Given the description of an element on the screen output the (x, y) to click on. 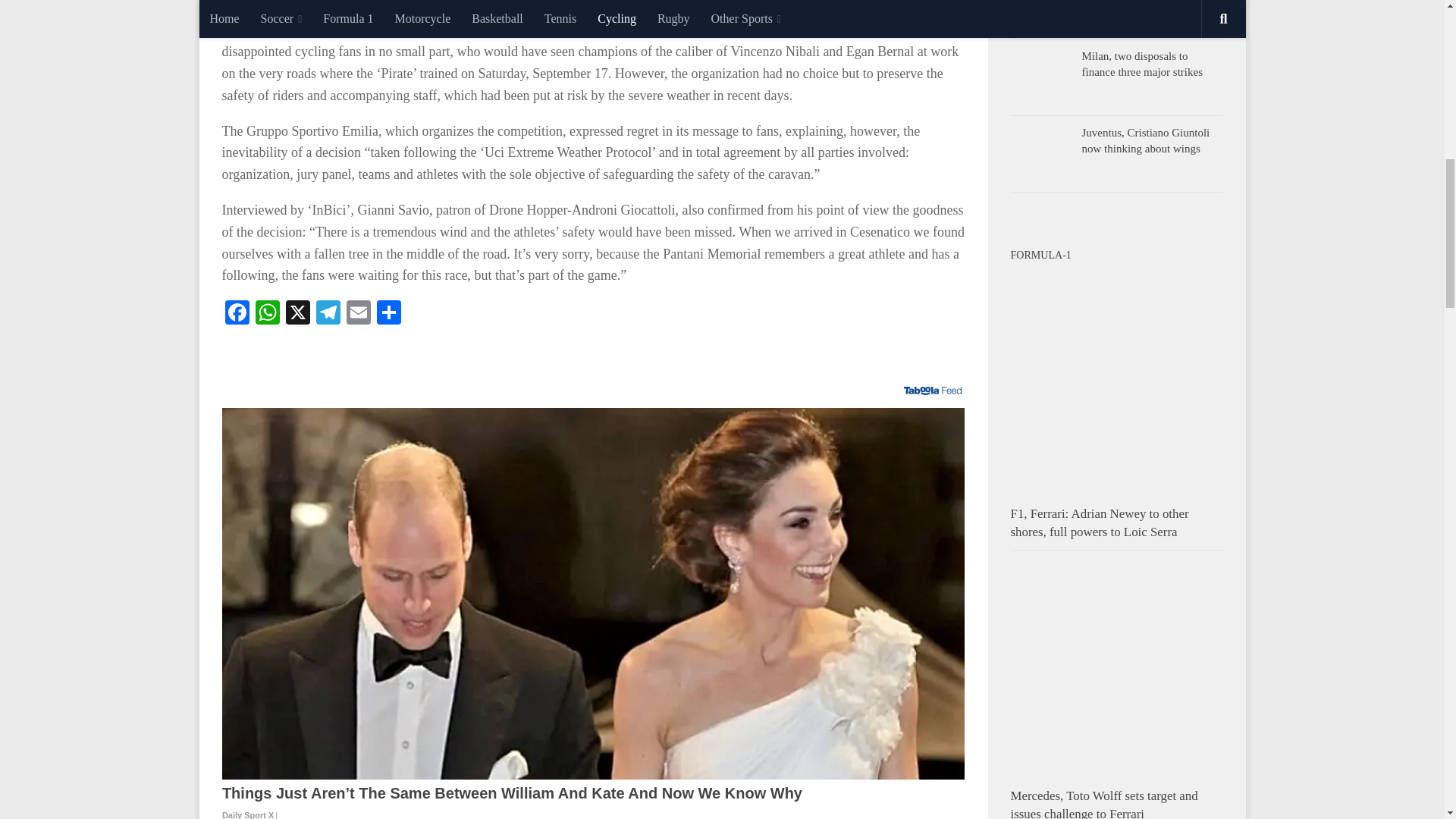
Telegram (327, 314)
X (297, 314)
Email (357, 314)
Facebook (236, 314)
WhatsApp (266, 314)
